Given the description of an element on the screen output the (x, y) to click on. 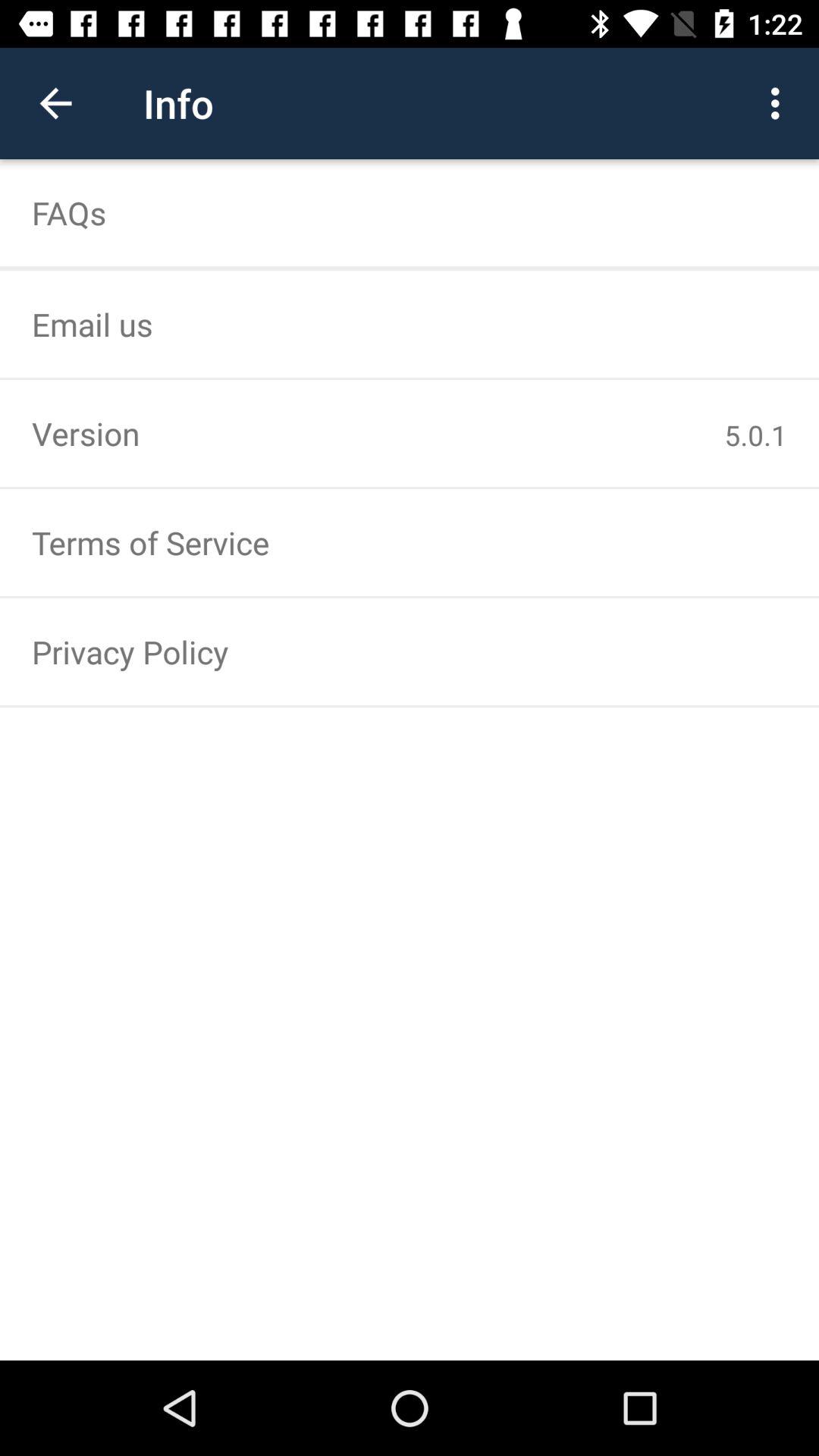
turn off icon next to info (779, 103)
